Given the description of an element on the screen output the (x, y) to click on. 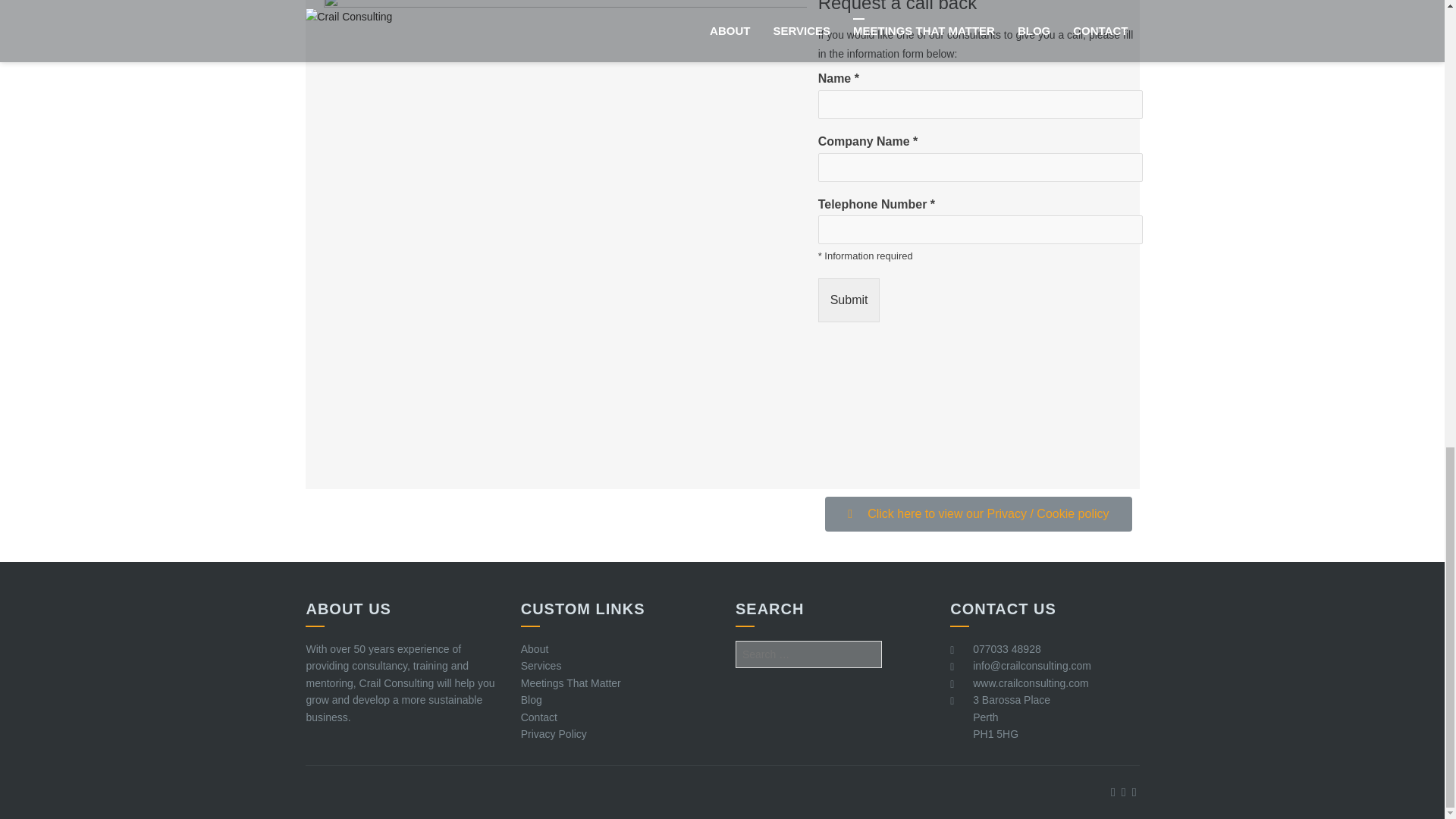
About (534, 648)
Blog (531, 699)
Privacy Policy (553, 734)
Submit (849, 300)
Meetings That Matter (571, 683)
Services (541, 665)
Contact (539, 717)
